Given the description of an element on the screen output the (x, y) to click on. 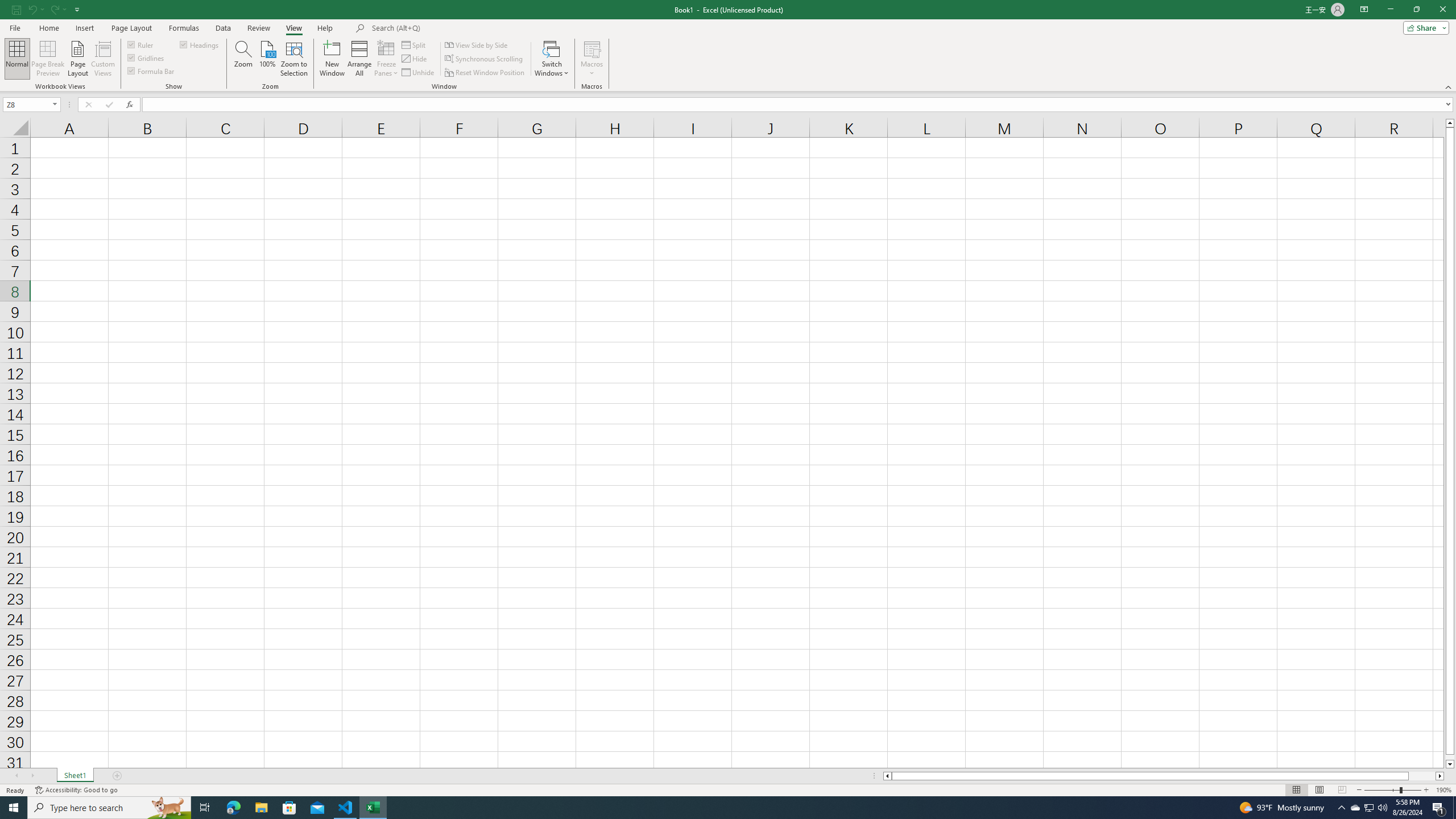
100% (266, 58)
Freeze Panes (386, 58)
Unhide... (419, 72)
Synchronous Scrolling (484, 58)
Gridlines (146, 56)
Zoom to Selection (293, 58)
Microsoft search (450, 28)
Headings (199, 44)
Class: MsoCommandBar (728, 45)
